Given the description of an element on the screen output the (x, y) to click on. 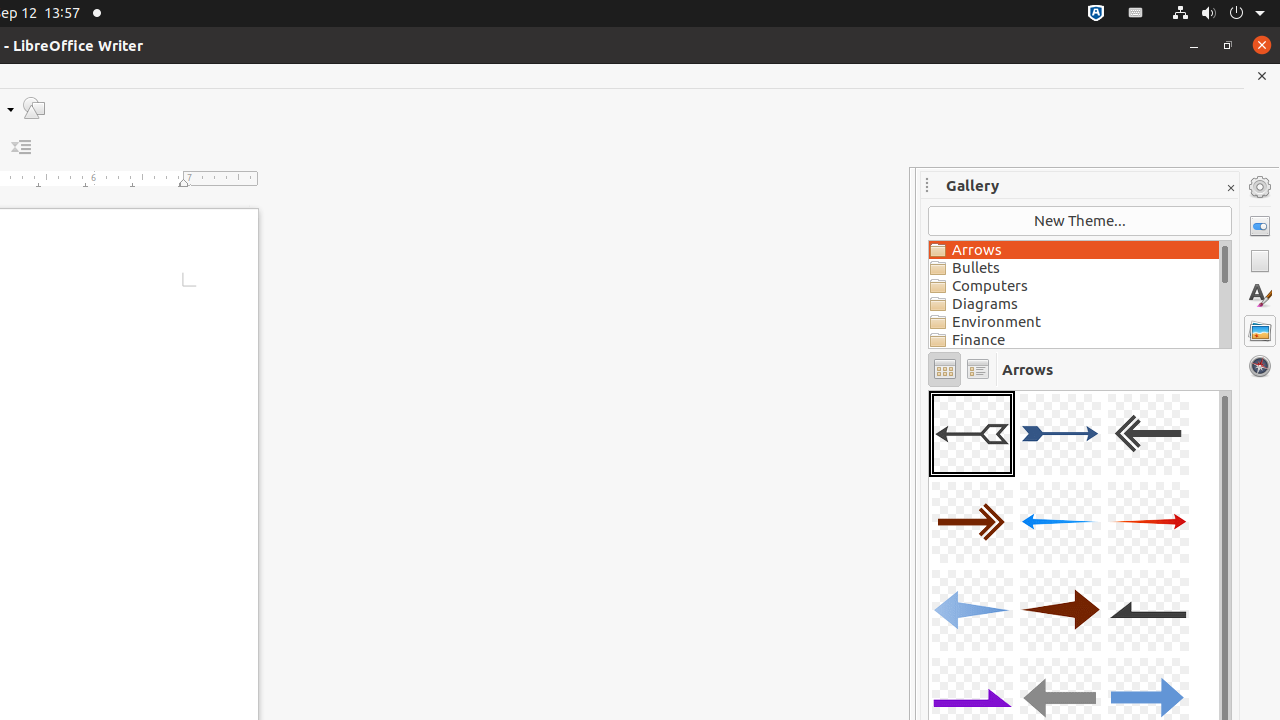
Environment Element type: list-item (1074, 322)
A36-CurvedArrow-LightBlue-Up Element type: list-item (929, 390)
Bullets Element type: list-item (1074, 268)
A08-Arrow-DarkRed-Right Element type: list-item (1060, 610)
Draw Functions Element type: toggle-button (33, 108)
